Given the description of an element on the screen output the (x, y) to click on. 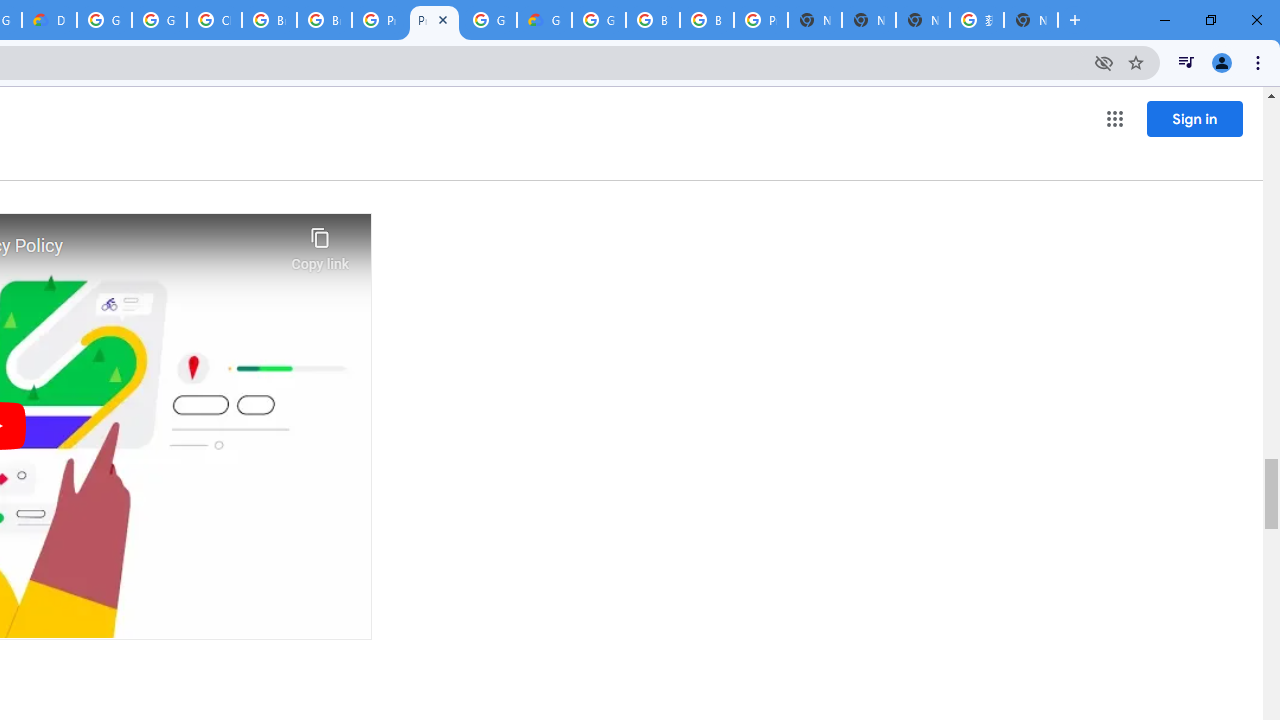
Google Cloud Estimate Summary (544, 20)
Browse Chrome as a guest - Computer - Google Chrome Help (324, 20)
Google Cloud Platform (103, 20)
Google Cloud Platform (489, 20)
Copy link (319, 244)
Browse Chrome as a guest - Computer - Google Chrome Help (652, 20)
